Given the description of an element on the screen output the (x, y) to click on. 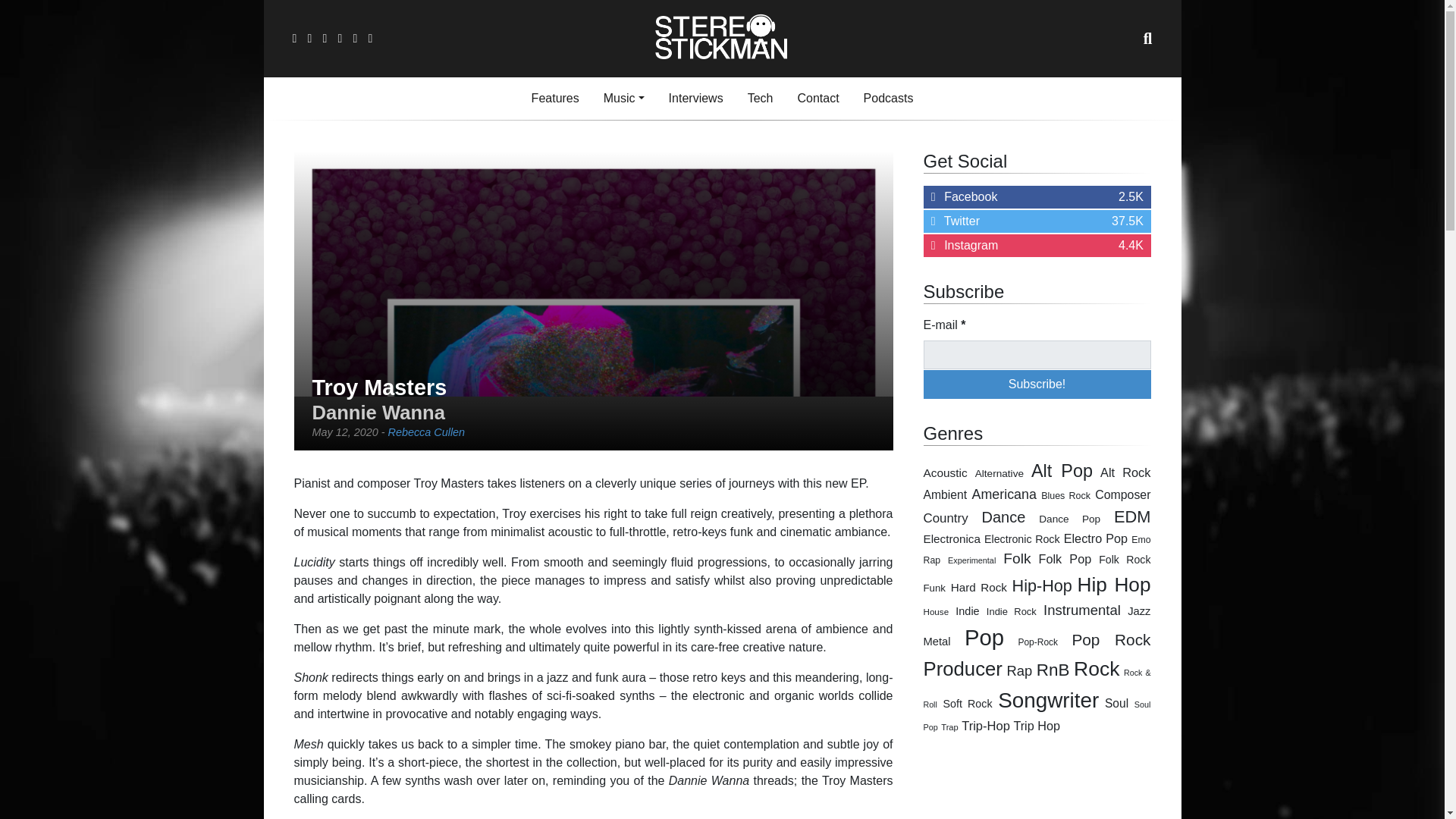
Features (555, 98)
Subscribe! (1037, 384)
Music (623, 98)
Features (555, 98)
Music (623, 98)
Interviews (695, 98)
Interviews (695, 98)
Podcasts (888, 98)
E-mail (1037, 354)
Rebecca Cullen (426, 431)
